Given the description of an element on the screen output the (x, y) to click on. 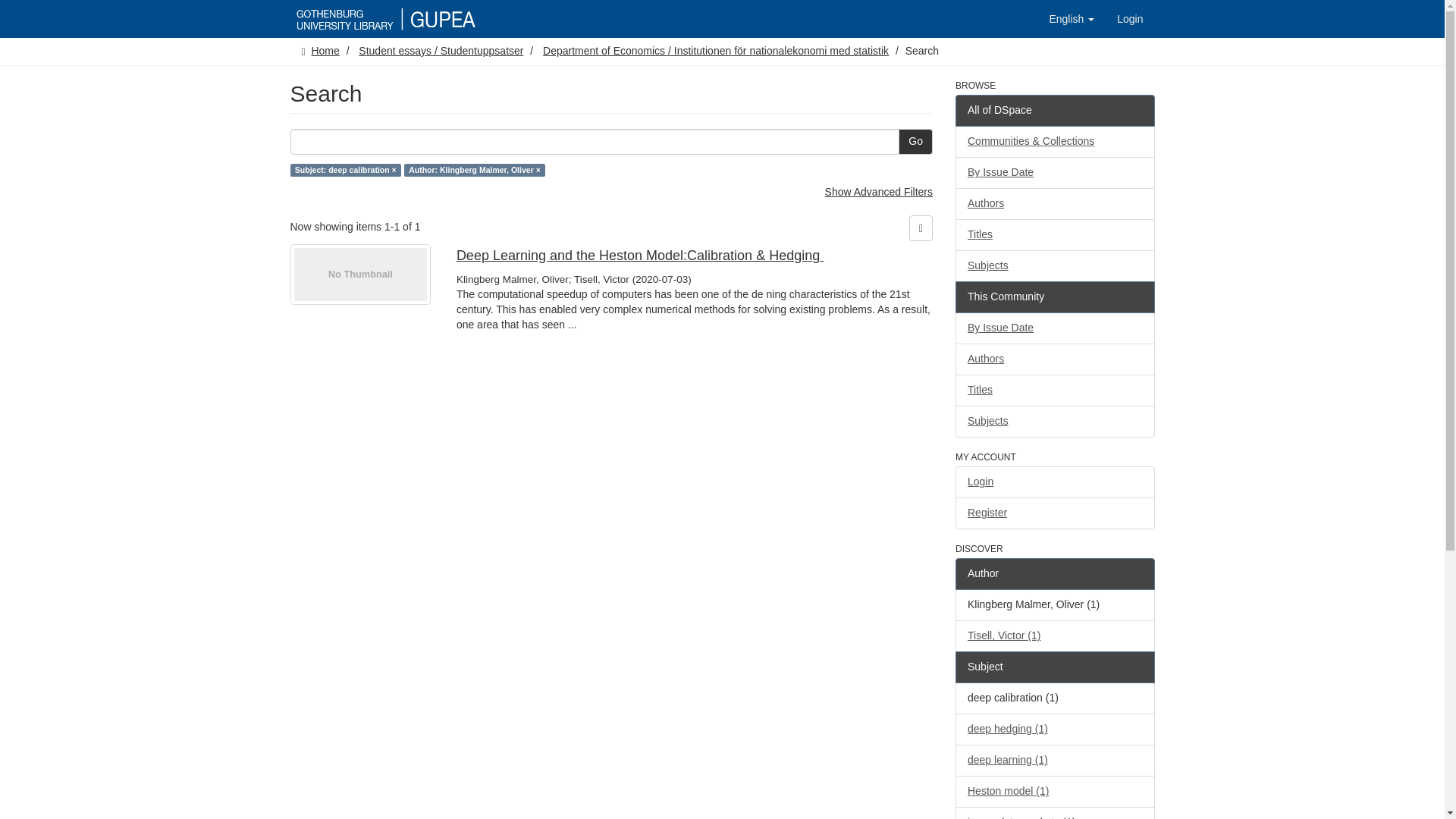
English  (1070, 18)
Go (915, 141)
Login (1129, 18)
Show Advanced Filters (879, 191)
Home (325, 50)
